Given the description of an element on the screen output the (x, y) to click on. 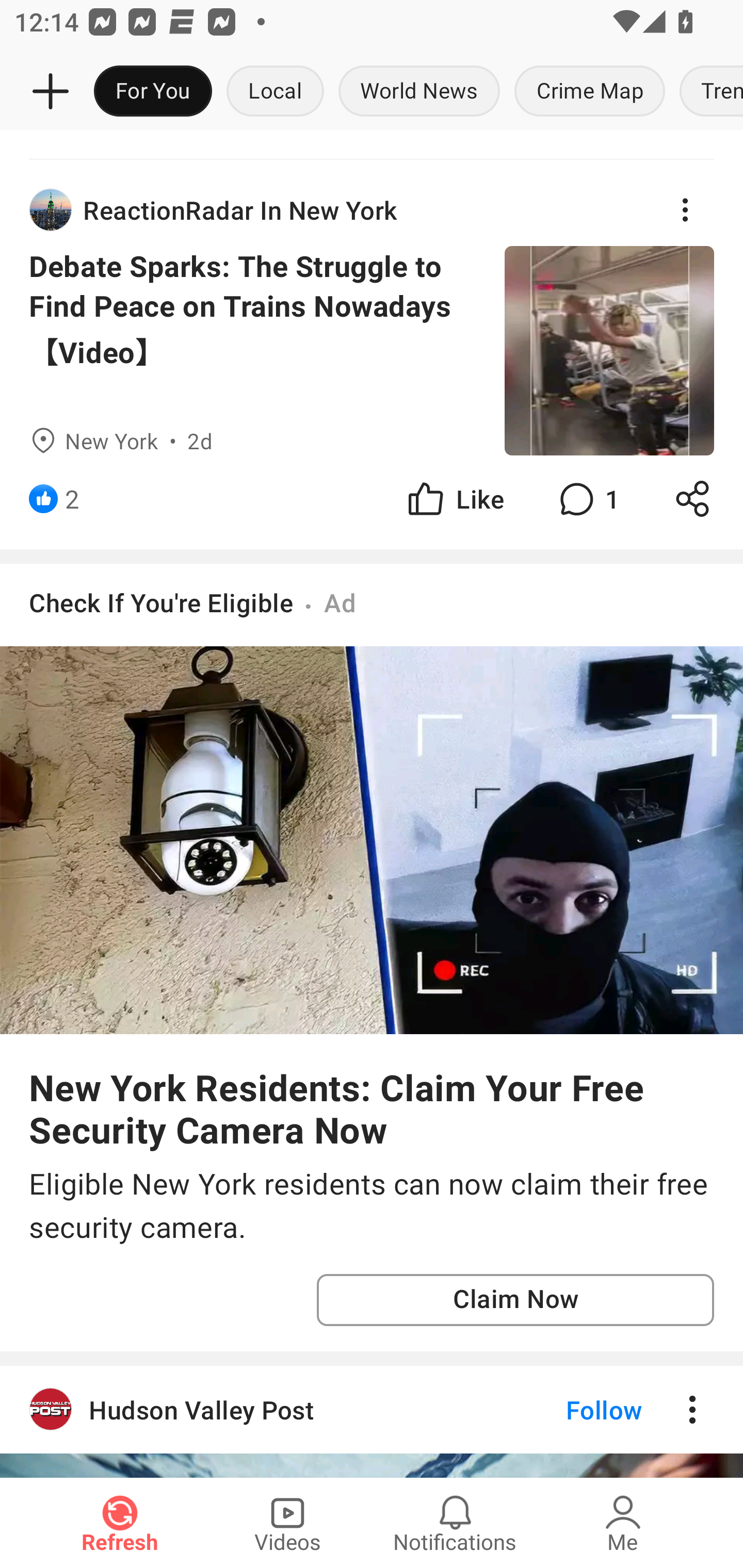
For You (152, 91)
Local (275, 91)
World News (419, 91)
Crime Map (589, 91)
2 (72, 498)
Like (454, 498)
1 (587, 498)
Check If You're Eligible (160, 601)
Claim Now (515, 1299)
Hudson Valley Post Follow (371, 1409)
Follow (569, 1409)
Videos (287, 1522)
Notifications (455, 1522)
Me (622, 1522)
